Given the description of an element on the screen output the (x, y) to click on. 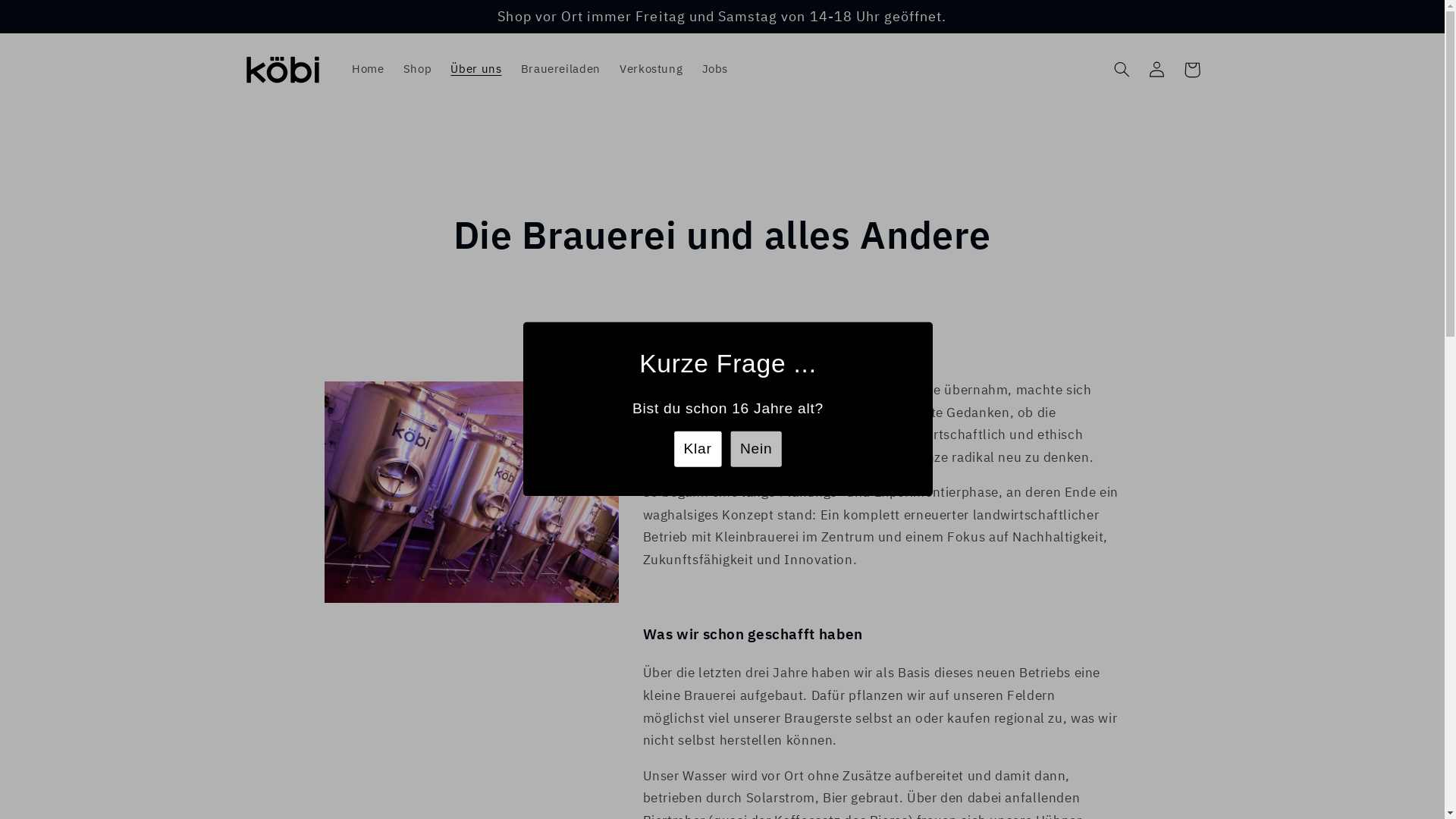
Jobs Element type: text (714, 69)
Home Element type: text (367, 69)
Shop Element type: text (417, 69)
Brauereiladen Element type: text (560, 69)
Einloggen Element type: text (1156, 69)
Warenkorb Element type: text (1191, 69)
Verkostung Element type: text (650, 69)
